Given the description of an element on the screen output the (x, y) to click on. 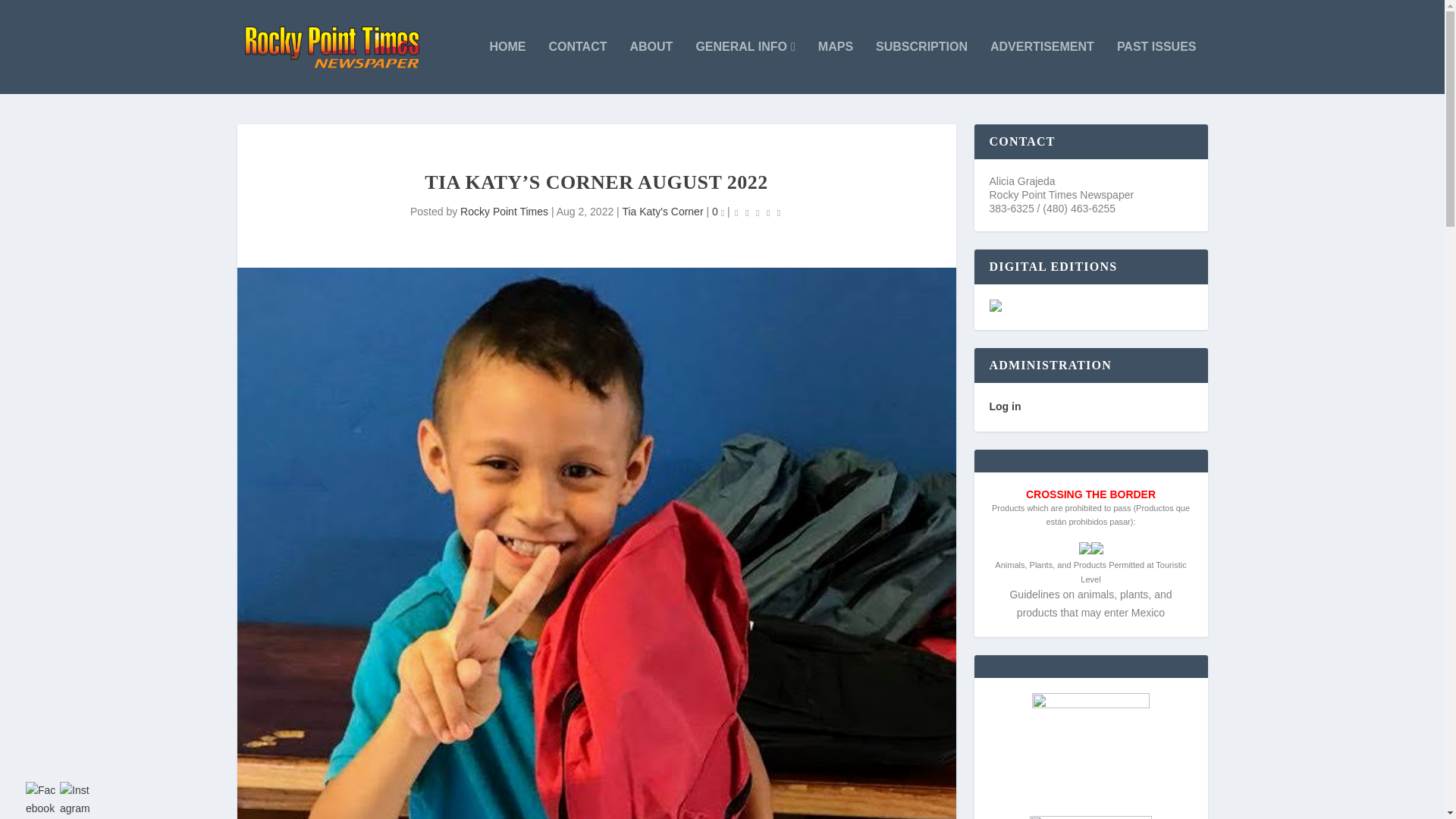
GENERAL INFO (744, 67)
CONTACT (577, 67)
PAST ISSUES (1156, 67)
Posts by Rocky Point Times (504, 211)
Log in (1004, 406)
Tia Katy's Corner (662, 211)
SUBSCRIPTION (922, 67)
ADVERTISEMENT (1042, 67)
Rating: 0.00 (757, 212)
Rocky Point Times (504, 211)
0 (717, 211)
